Given the description of an element on the screen output the (x, y) to click on. 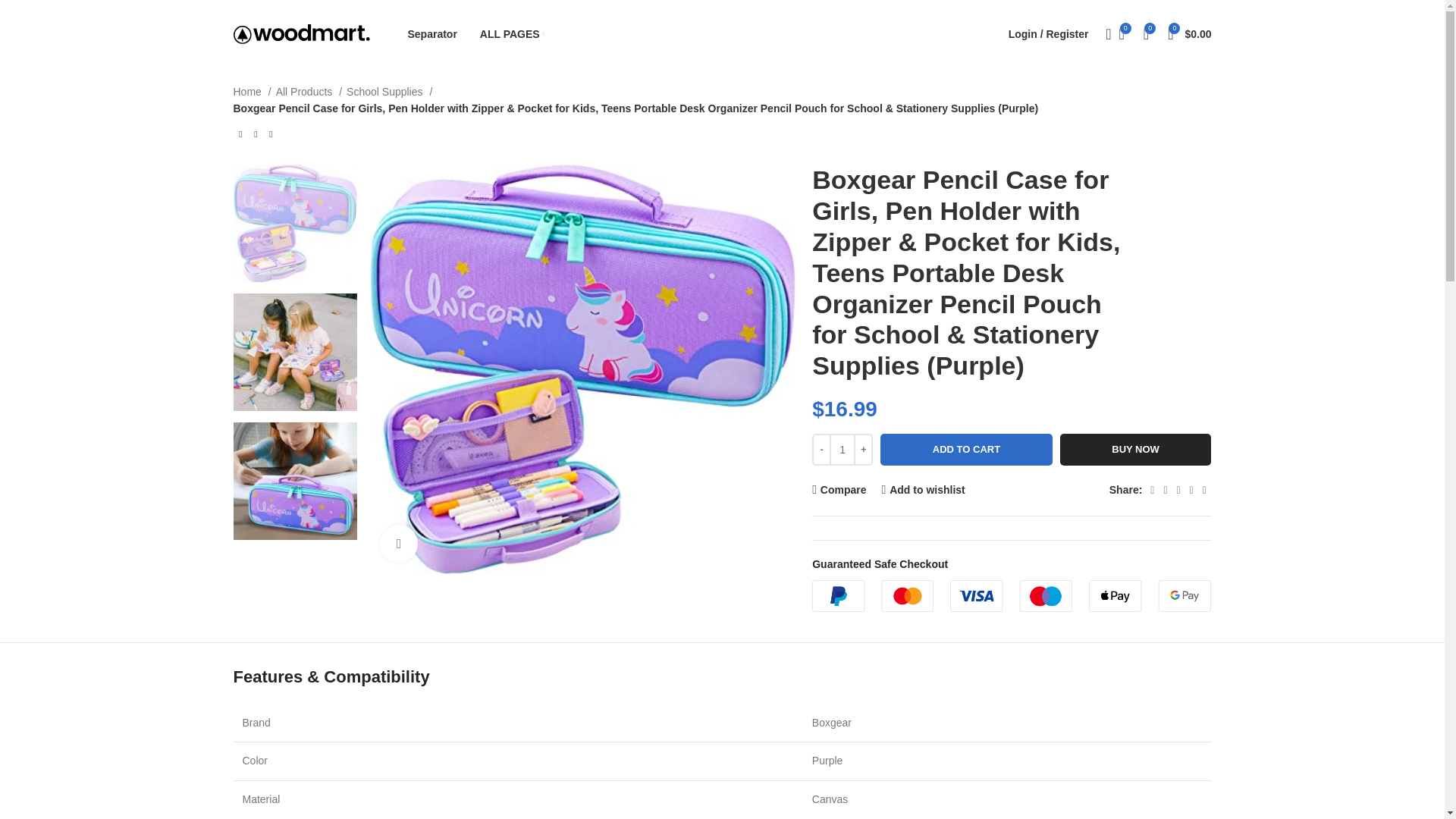
Separator (432, 33)
ALL PAGES (512, 33)
My account (1048, 33)
All Products (309, 91)
School Supplies (389, 91)
Shopping cart (1189, 33)
Home (251, 91)
